Given the description of an element on the screen output the (x, y) to click on. 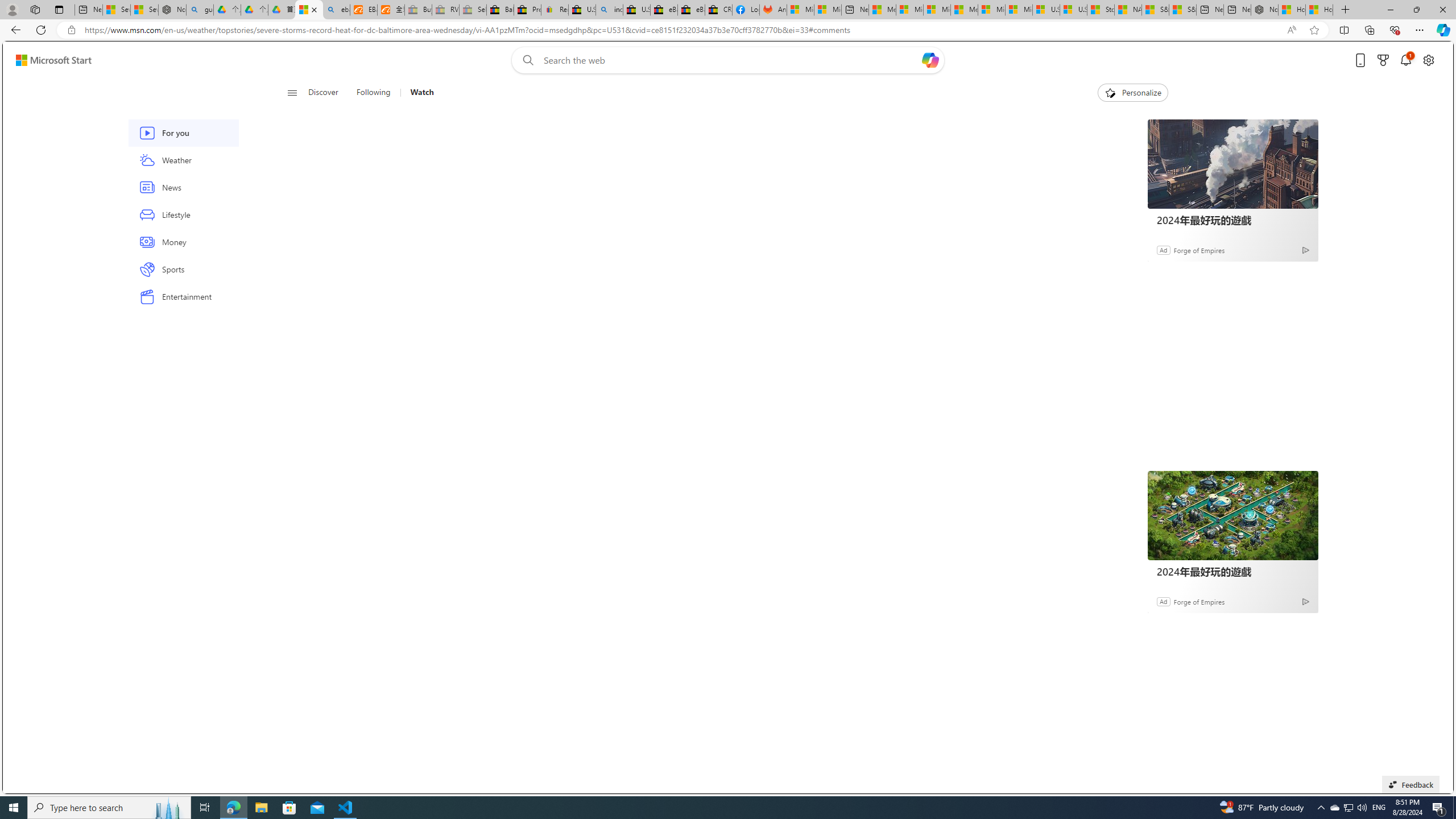
including - Search (609, 9)
Enter your search term (730, 59)
Forge of Empires (1198, 601)
Class: button-glyph (292, 92)
Open settings (1427, 60)
S&P 500, Nasdaq end lower, weighed by Nvidia dip | Watch (1182, 9)
U.S. State Privacy Disclosures - eBay Inc. (636, 9)
